Given the description of an element on the screen output the (x, y) to click on. 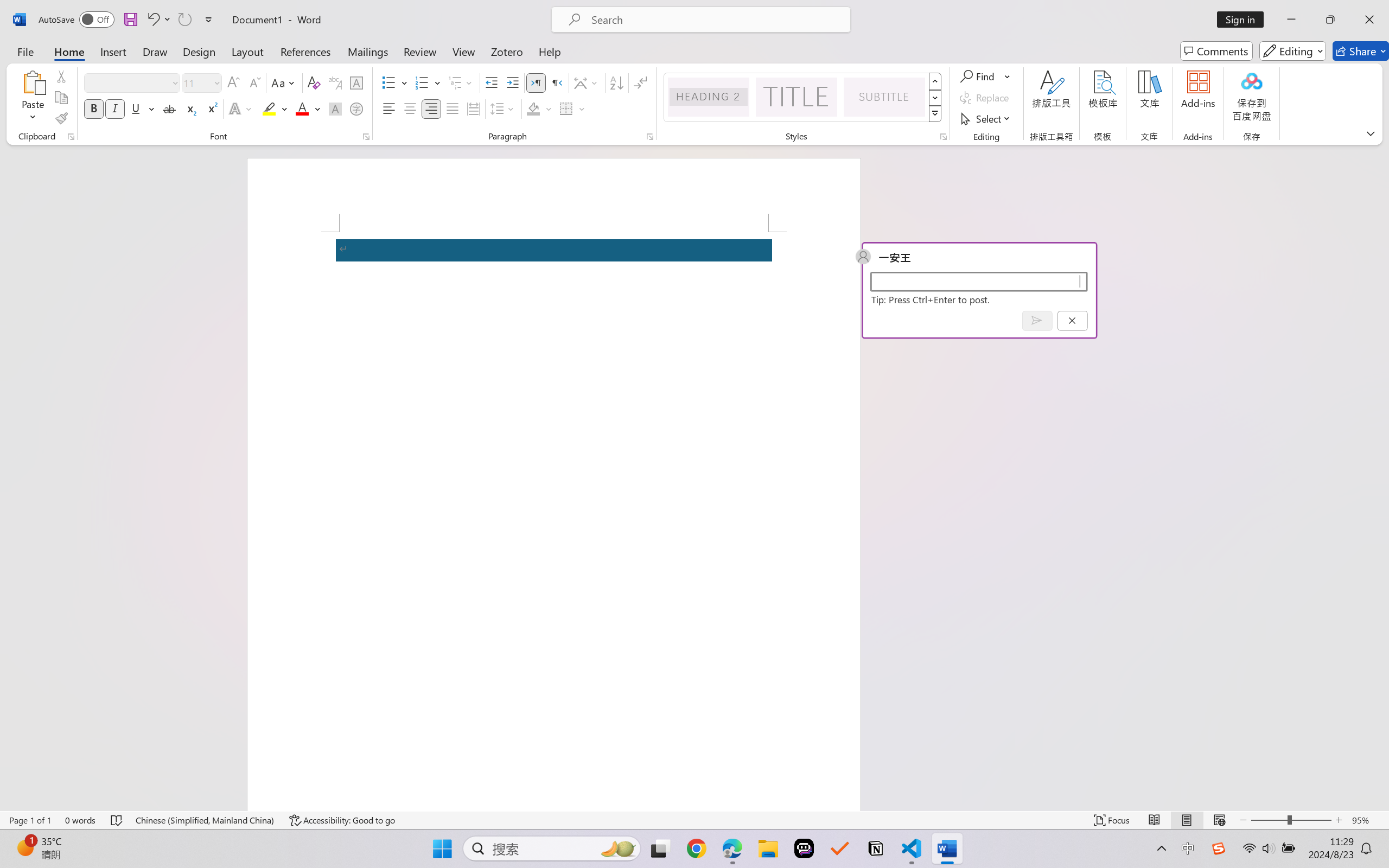
Subtitle (883, 96)
Post comment (Ctrl + Enter) (1036, 320)
